Given the description of an element on the screen output the (x, y) to click on. 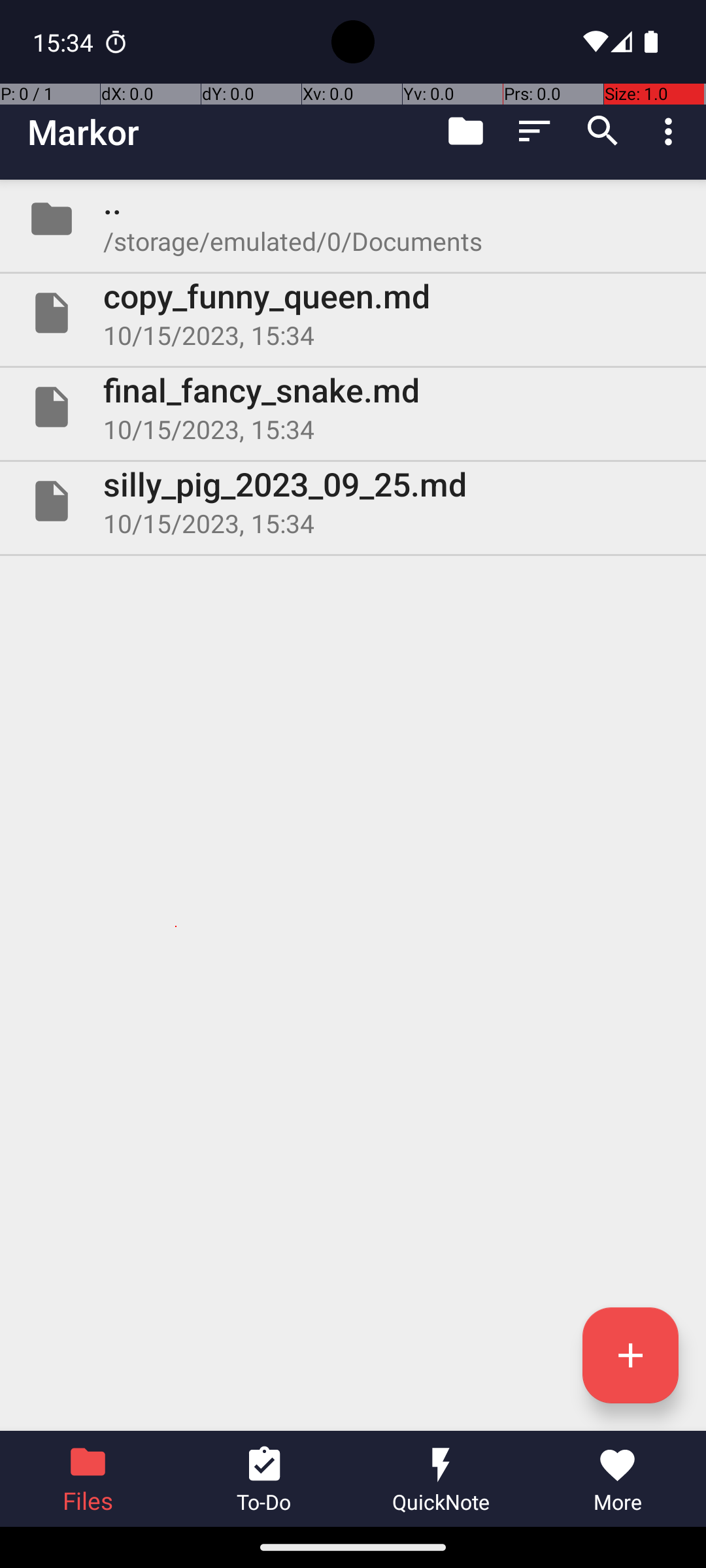
File copy_funny_queen.md  Element type: android.widget.LinearLayout (353, 312)
File final_fancy_snake.md  Element type: android.widget.LinearLayout (353, 406)
File silly_pig_2023_09_25.md  Element type: android.widget.LinearLayout (353, 500)
